Given the description of an element on the screen output the (x, y) to click on. 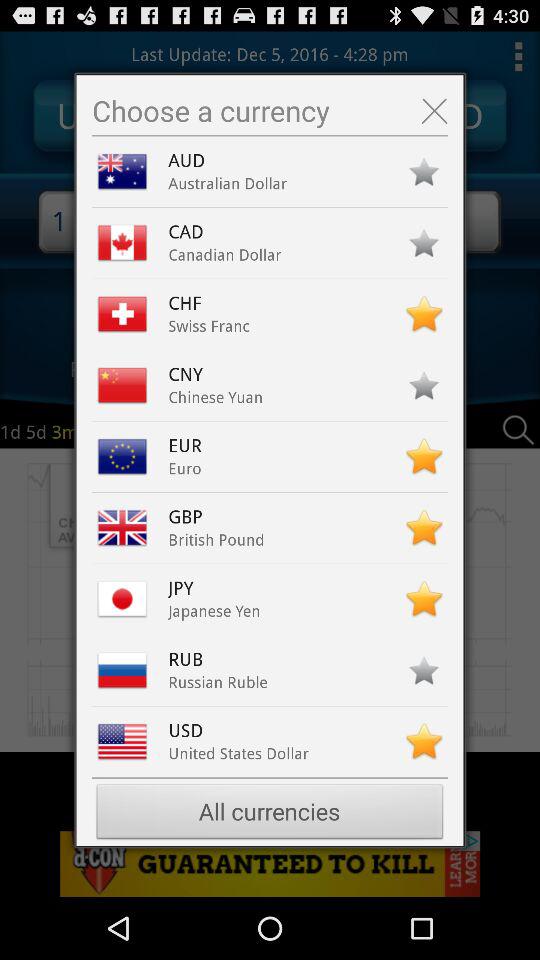
jump until canadian dollar app (224, 254)
